Given the description of an element on the screen output the (x, y) to click on. 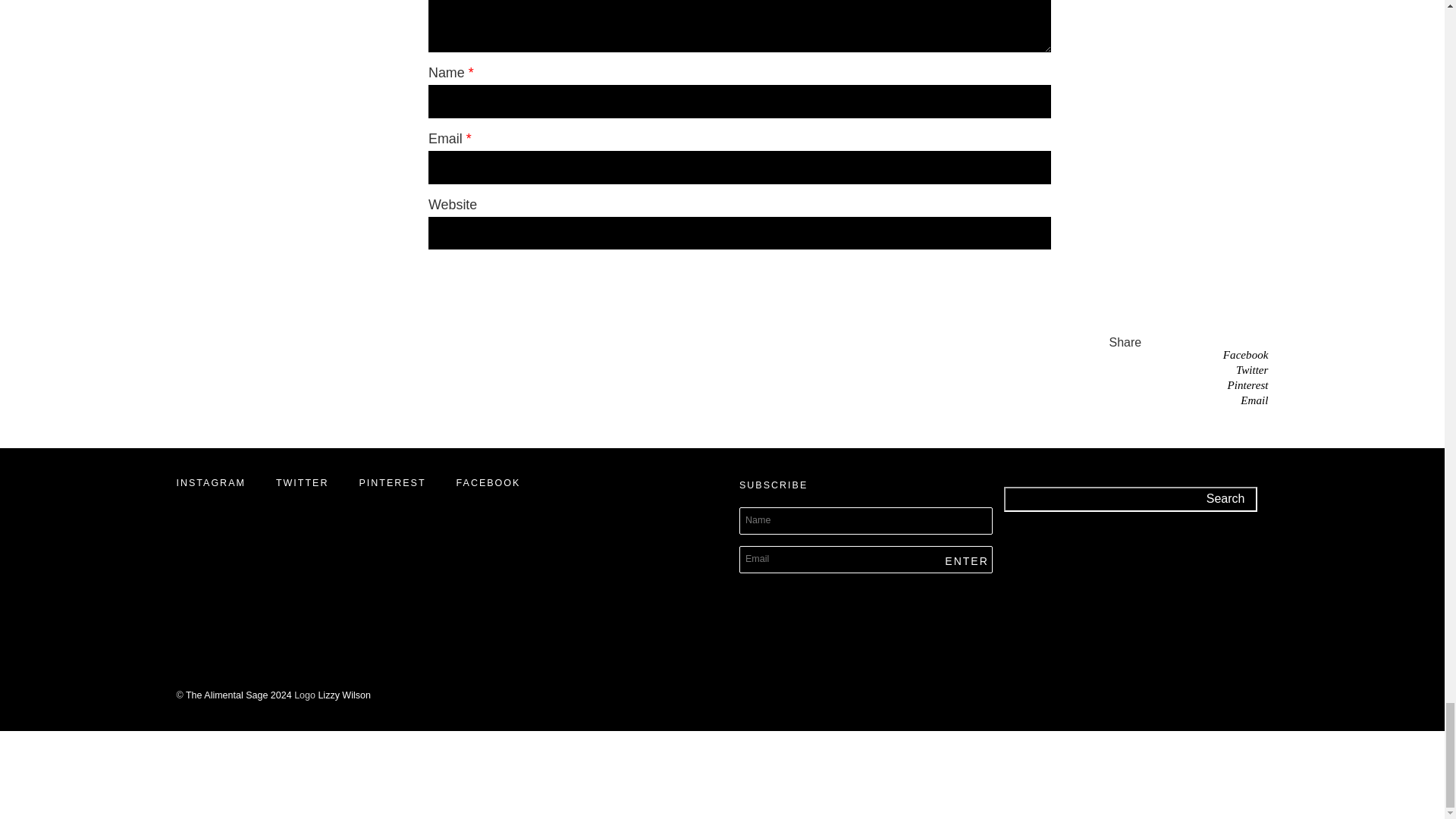
Search (1225, 499)
Post Comment (739, 272)
Enter (959, 561)
